Given the description of an element on the screen output the (x, y) to click on. 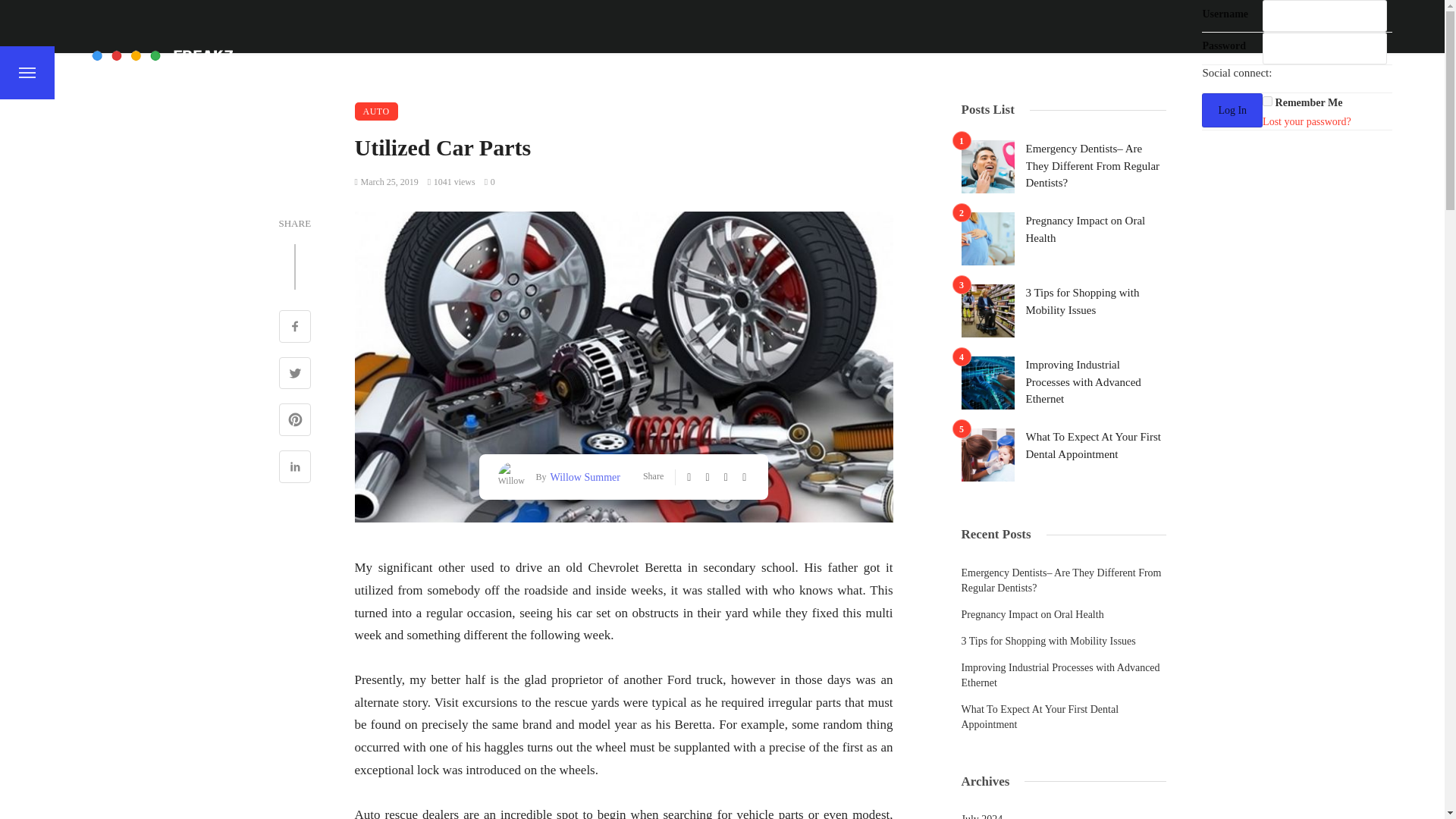
Password Lost and Found (1306, 121)
0 (489, 181)
HOME (314, 72)
Share on Facebook (295, 328)
March 25, 2019 at 11:21 am (387, 181)
TECHNOLOGY (1099, 72)
0 Comments (489, 181)
REAL ESTATE (895, 72)
Log In (1232, 110)
HEALTH (732, 72)
